Given the description of an element on the screen output the (x, y) to click on. 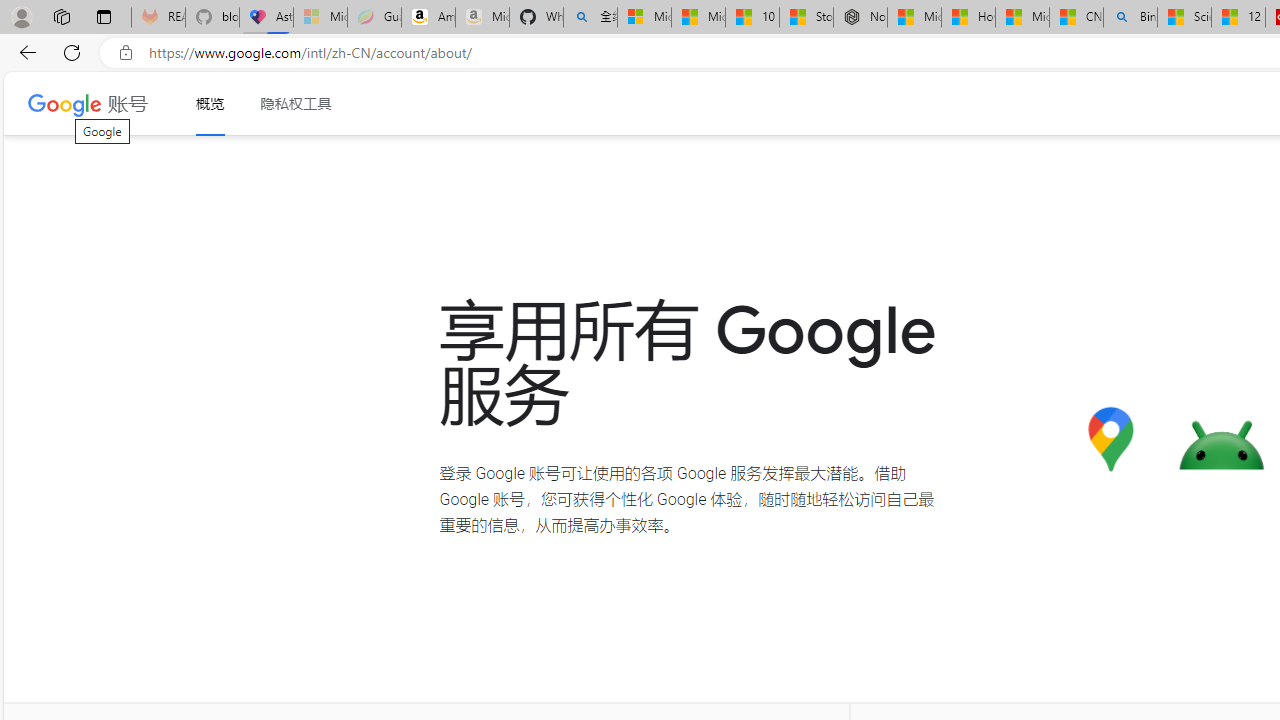
CNN - MSN (1076, 17)
